Given the description of an element on the screen output the (x, y) to click on. 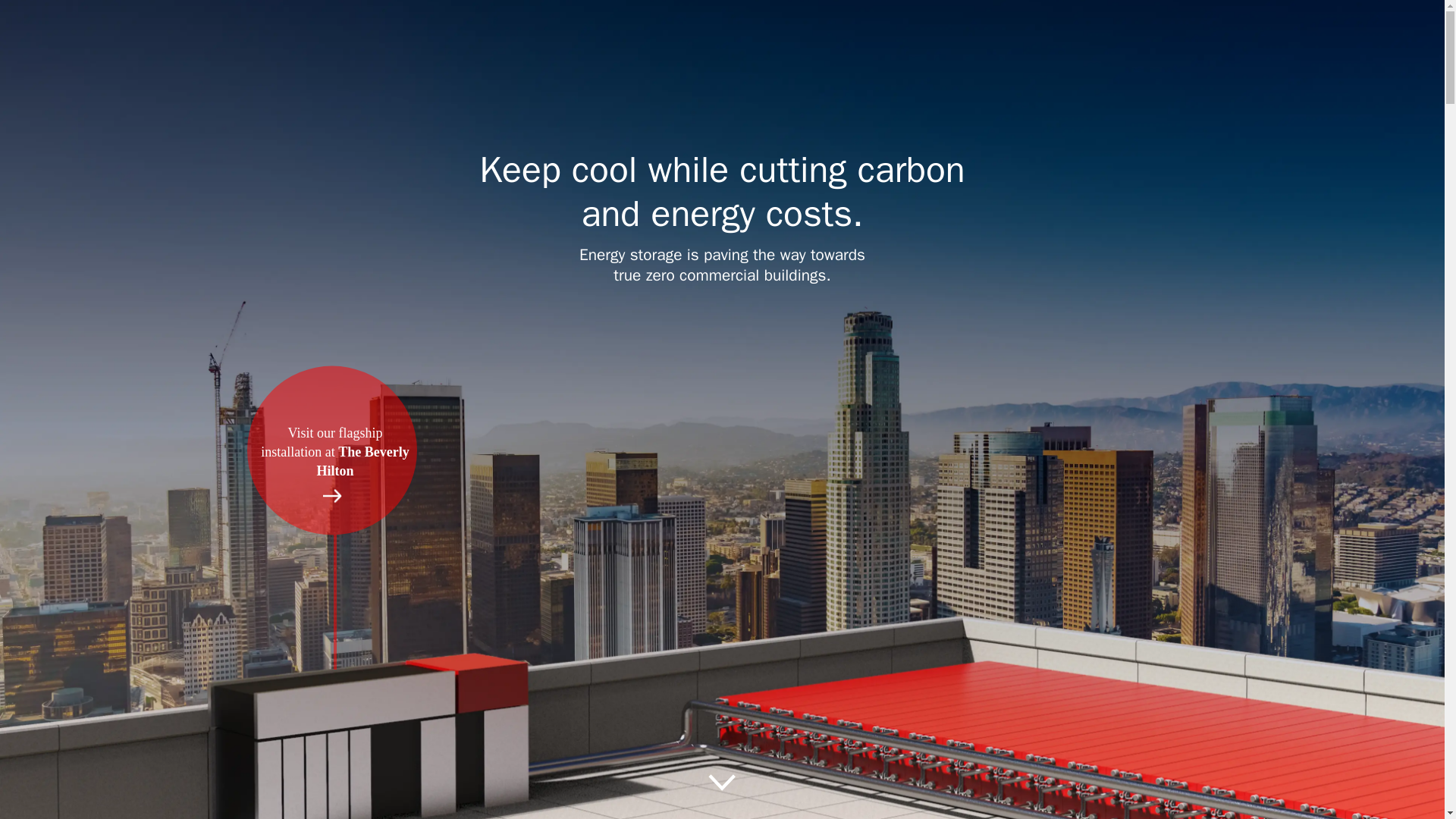
Visit our flagship installation at The Beverly Hilton (331, 433)
